Given the description of an element on the screen output the (x, y) to click on. 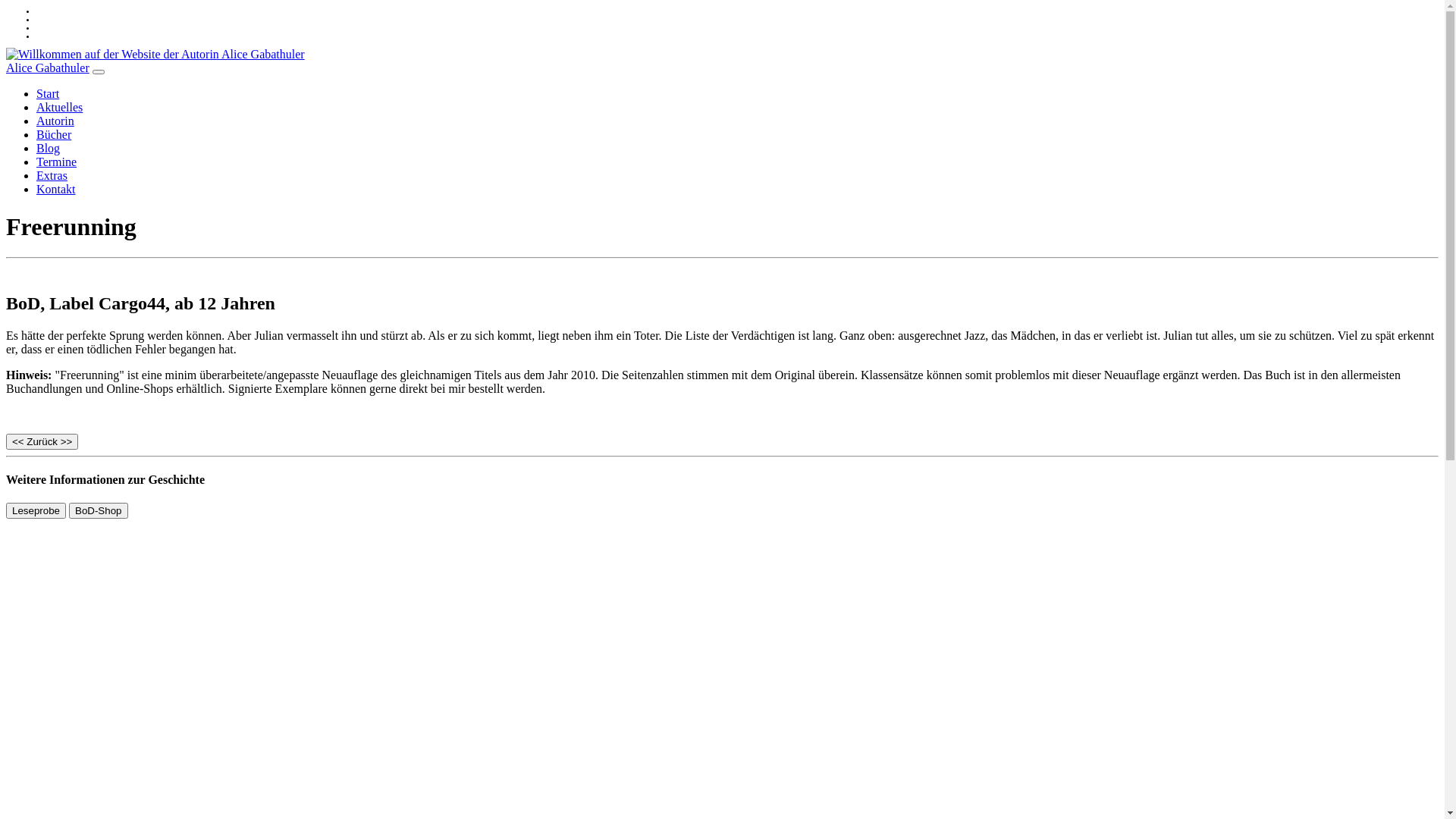
BoD-Shop Element type: text (98, 509)
Autorin Element type: text (55, 120)
Kontakt Element type: text (55, 188)
Website der Schweizer Autorin Alice Gabathuler. Element type: hover (155, 53)
Leseprobe Element type: text (35, 509)
Start Element type: text (47, 93)
BoD-Shop Element type: text (98, 510)
Extras Element type: text (51, 175)
Leseprobe Element type: text (35, 510)
Blog Element type: text (47, 147)
Alice Gabathuler Element type: text (47, 67)
Aktuelles Element type: text (59, 106)
Termine Element type: text (56, 161)
